Given the description of an element on the screen output the (x, y) to click on. 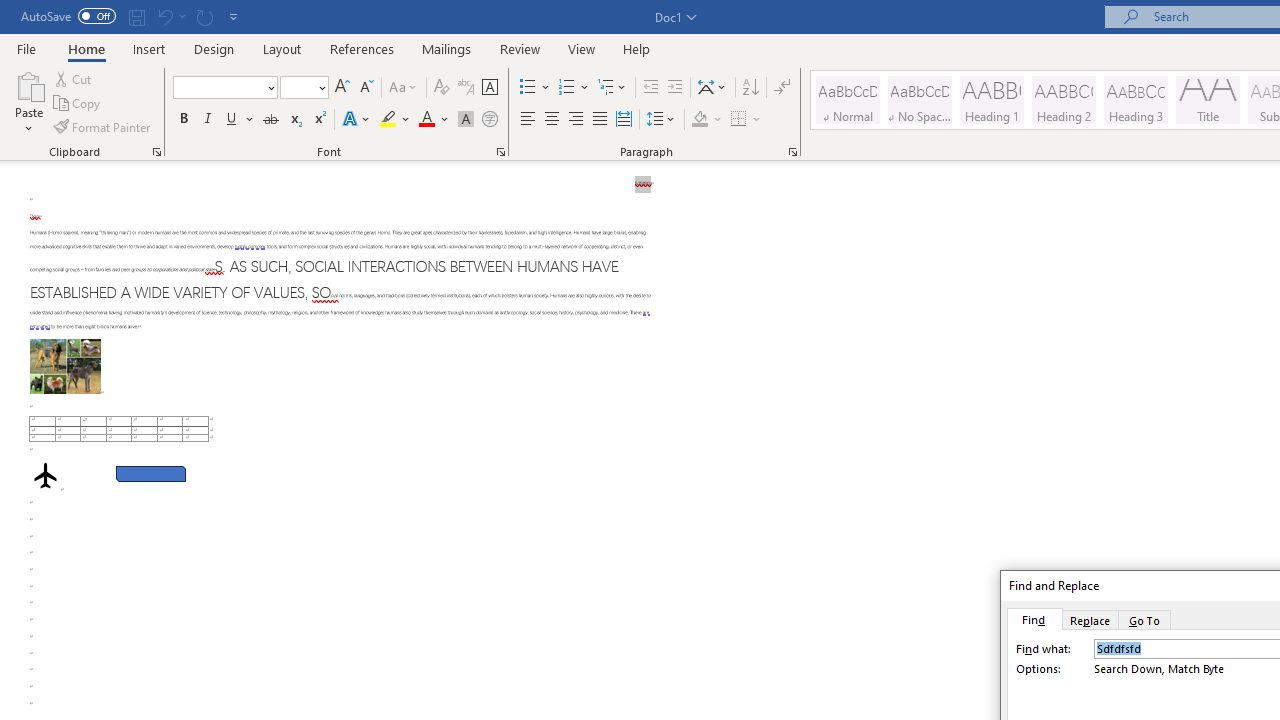
Airplane with solid fill (45, 475)
Repeat Paragraph Alignment (204, 15)
Heading 3 (1135, 100)
Morphological variation in six dogs (65, 366)
